Given the description of an element on the screen output the (x, y) to click on. 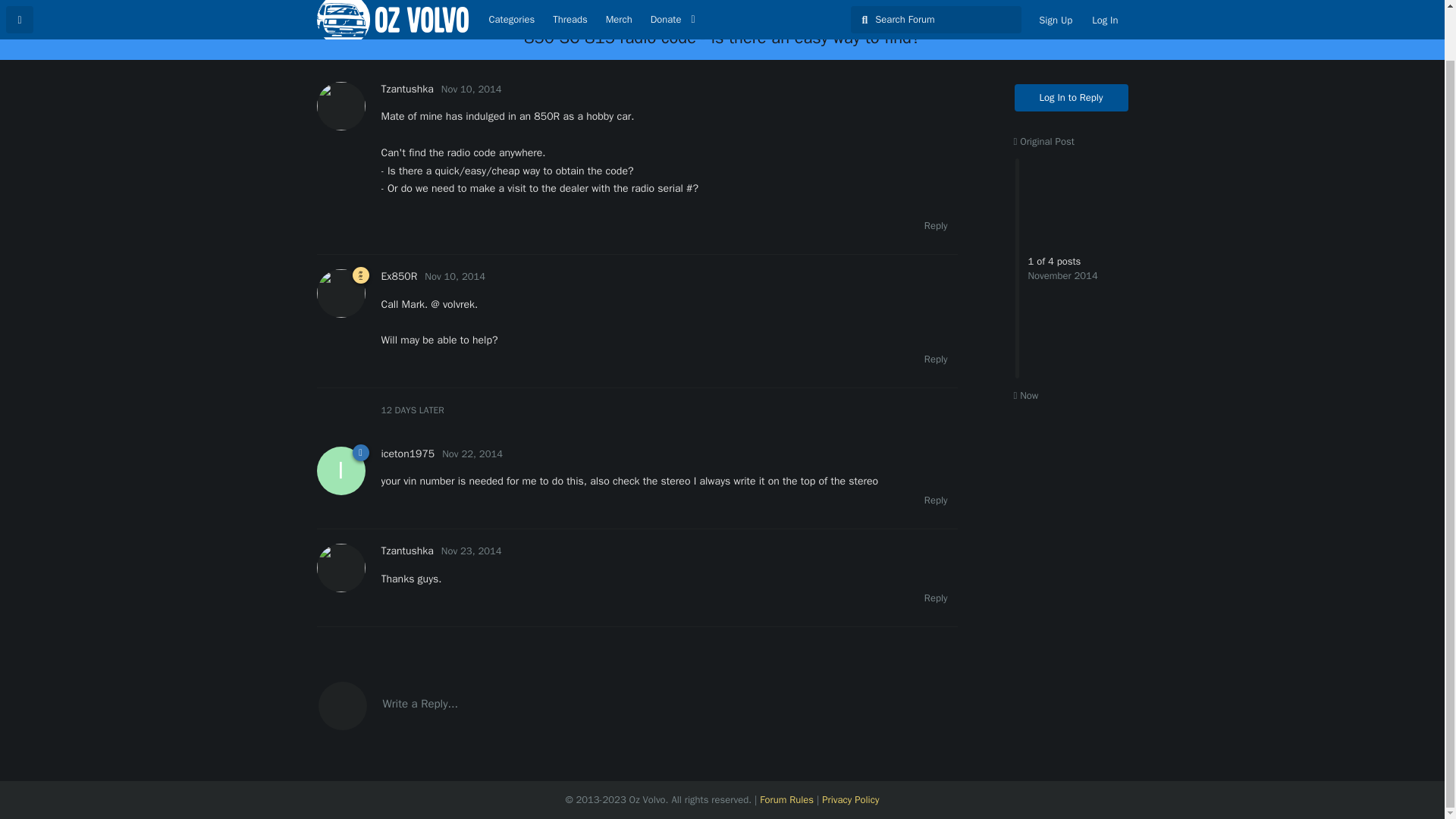
Tzantushka (406, 550)
Ex850R (398, 276)
Now (1025, 395)
Tzantushka (406, 88)
Nov 22, 2014 (472, 453)
Log In to Reply (1071, 97)
Nov 10, 2014 (454, 276)
FWD or AWD "modern" Volvo projects (720, 7)
Forum Rules (786, 799)
Monday, November 10, 2014 12:00 PM (454, 276)
